Given the description of an element on the screen output the (x, y) to click on. 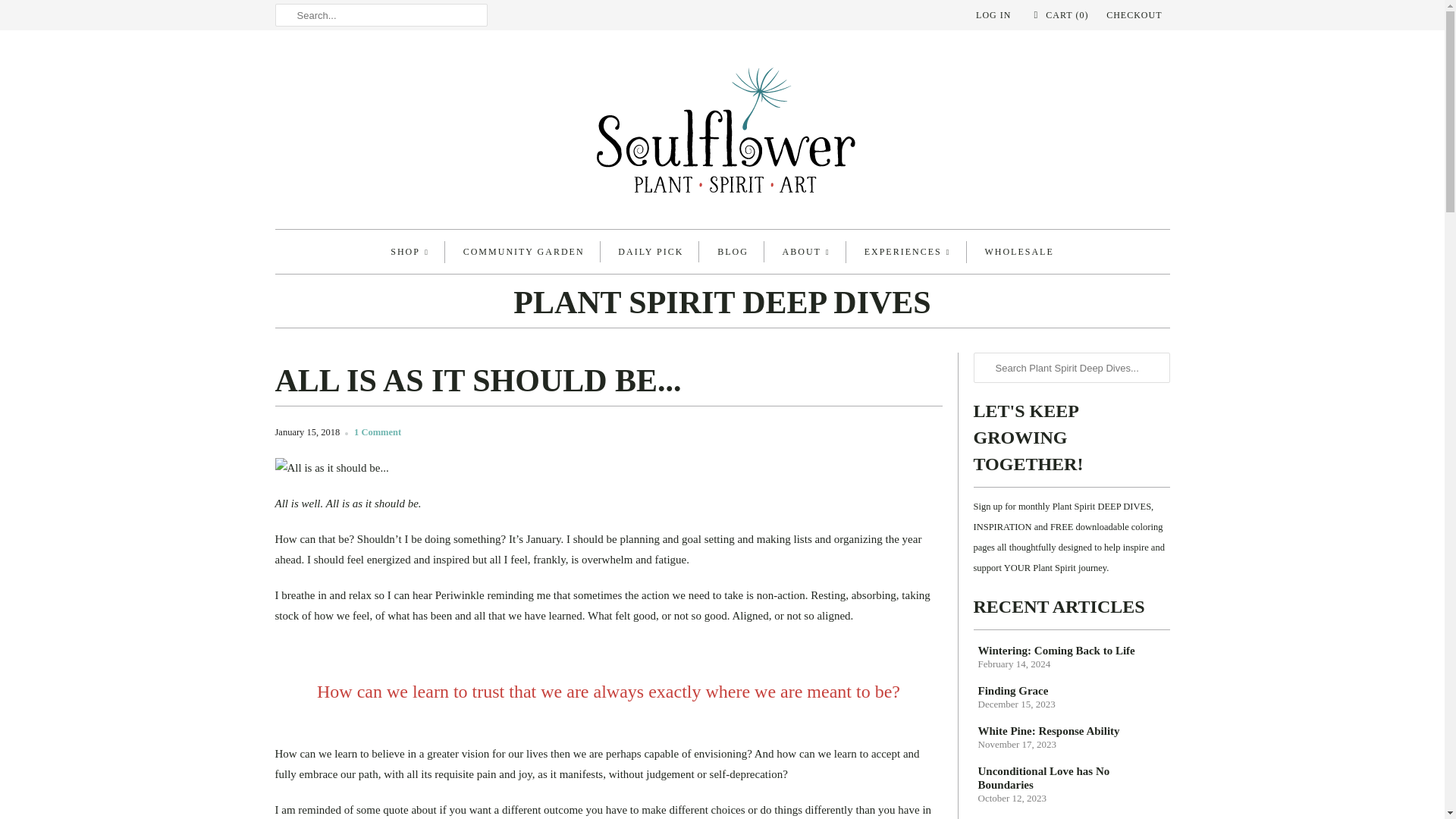
PLANT SPIRIT DEEP DIVES (722, 305)
ABOUT (806, 251)
DAILY PICK (649, 251)
1 Comment (377, 431)
My Soulflower (721, 133)
LOG IN (992, 15)
Plant Spirit Deep Dives (722, 305)
SHOP (409, 251)
WHOLESALE (1018, 251)
EXPERIENCES (907, 251)
